Given the description of an element on the screen output the (x, y) to click on. 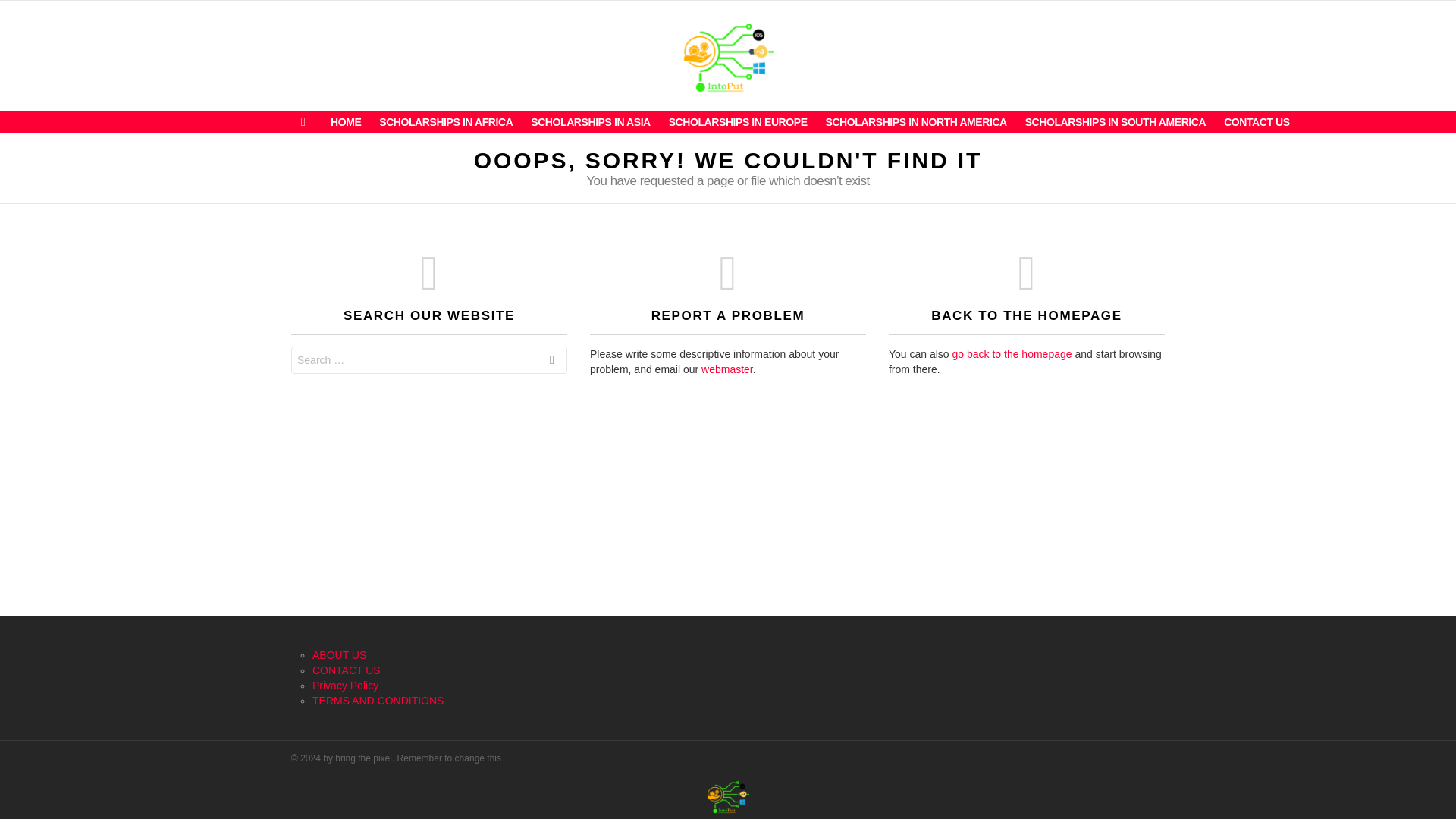
CONTACT US (346, 670)
CONTACT US (1256, 121)
webmaster (726, 369)
SCHOLARSHIPS IN ASIA (590, 121)
go back to the homepage (1011, 354)
Privacy Policy (345, 685)
Search for: (429, 359)
HOME (345, 121)
ABOUT US (339, 654)
SCHOLARSHIPS IN SOUTH AMERICA (1115, 121)
